Given the description of an element on the screen output the (x, y) to click on. 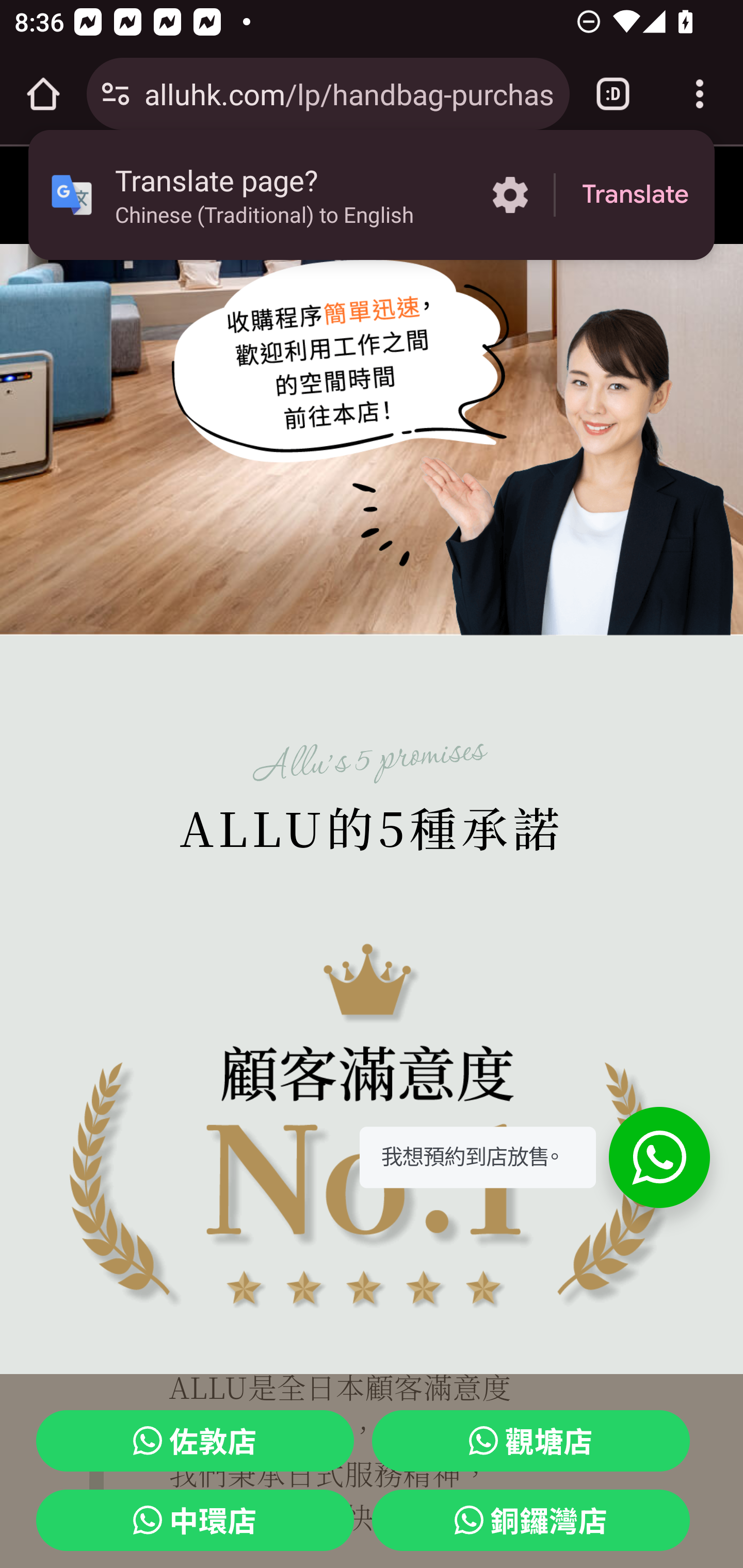
Open the home page (43, 93)
Connection is secure (115, 93)
Switch or close tabs (612, 93)
Customize and control Google Chrome (699, 93)
Translate (634, 195)
More options in the Translate page? (509, 195)
佐敦店 (195, 1440)
觀塘店 (531, 1440)
中環店 (195, 1520)
銅鑼灣店 (531, 1520)
